Given the description of an element on the screen output the (x, y) to click on. 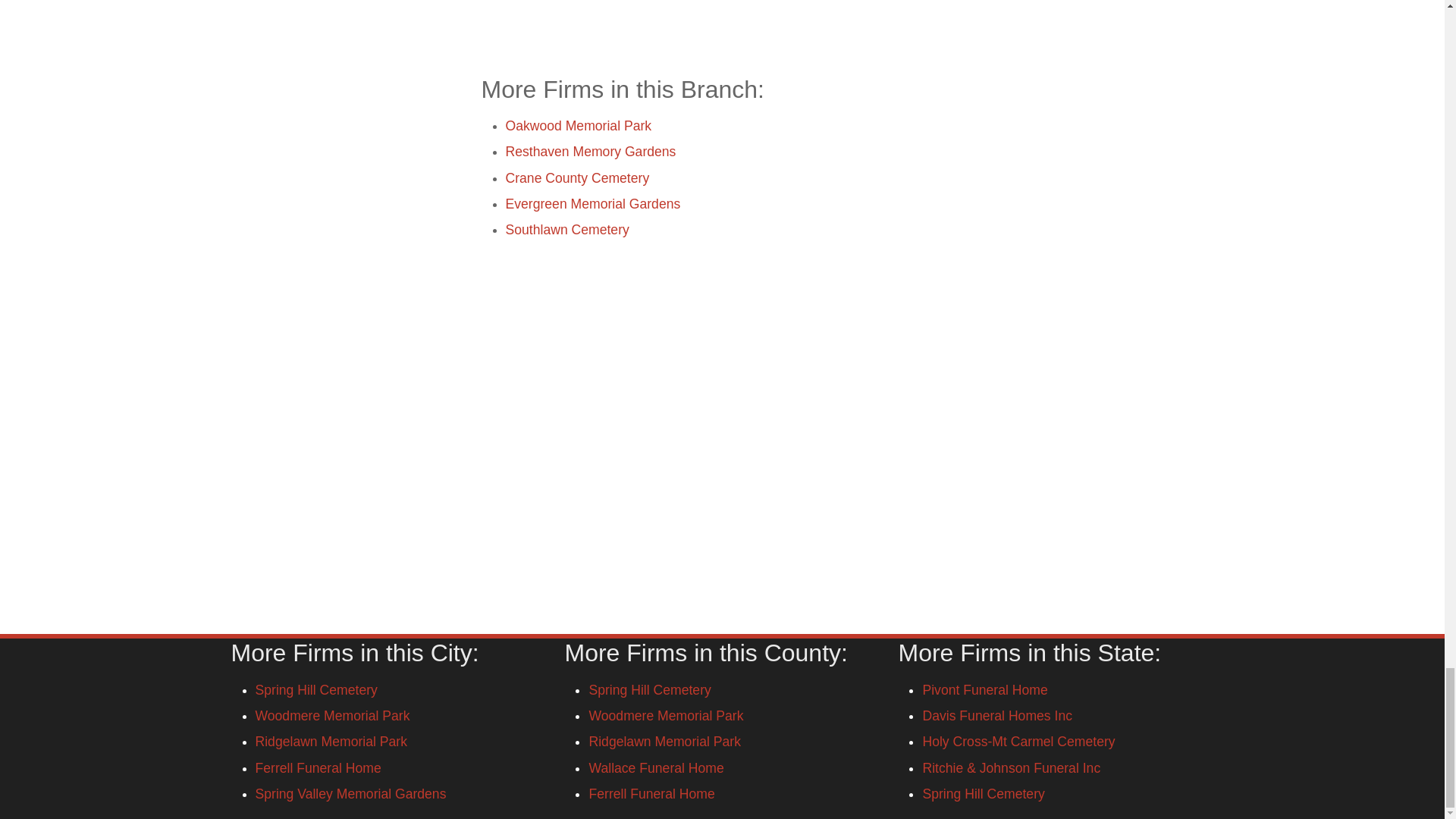
Southlawn Cemetery (566, 229)
Evergreen Memorial Gardens (592, 203)
Oakwood Memorial Park (577, 125)
Resthaven Memory Gardens (590, 151)
Crane County Cemetery (577, 177)
